Given the description of an element on the screen output the (x, y) to click on. 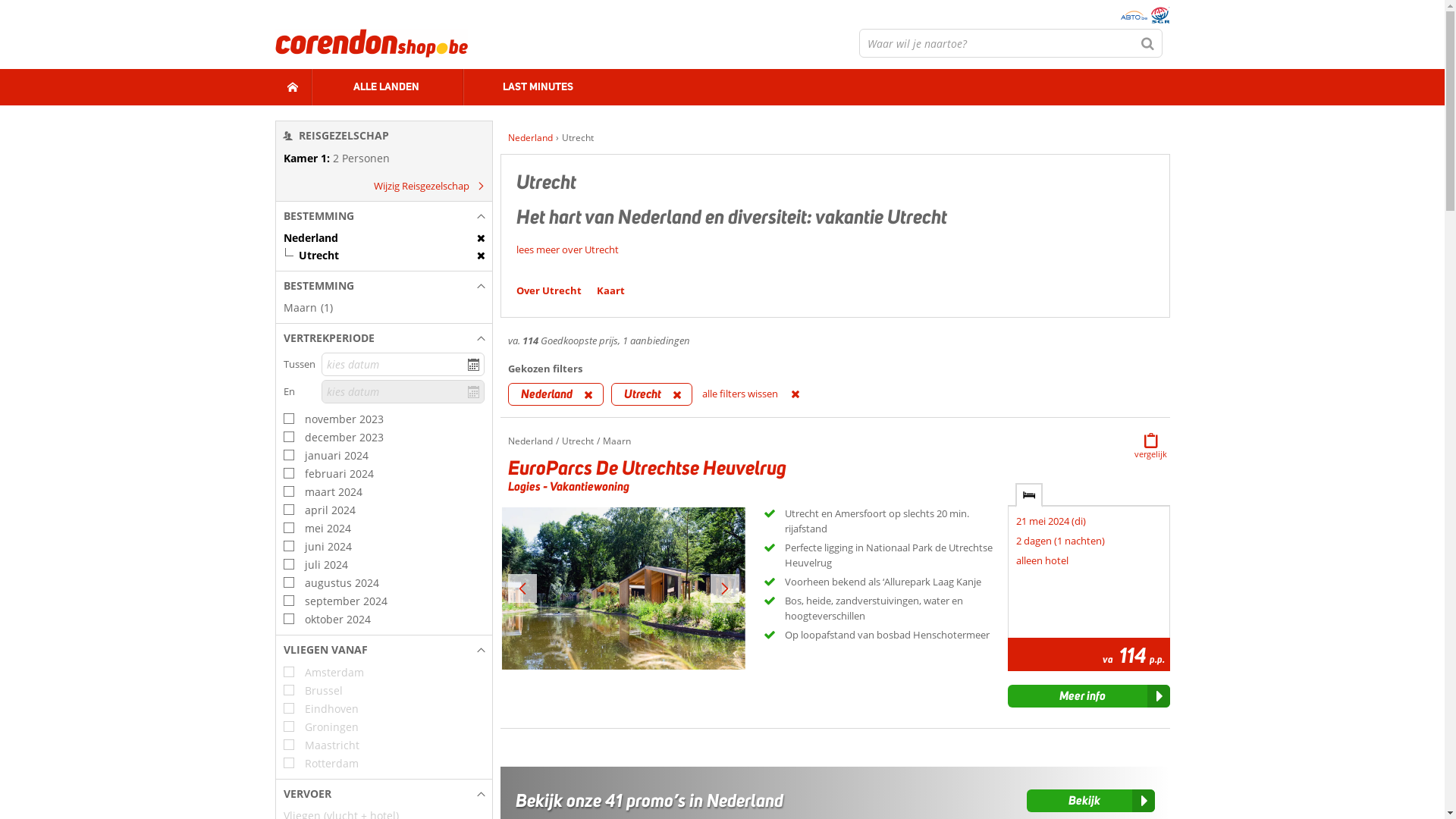
Alleen hotel Element type: hover (1028, 495)
ALLE LANDEN Element type: text (386, 87)
Home Element type: text (520, 137)
Nederland Element type: text (384, 237)
Meer info Element type: text (1088, 695)
Vliegvakanties Element type: hover (370, 42)
lees meer over Utrecht Element type: text (567, 249)
Home Element type: hover (292, 87)
Nederland Element type: text (530, 137)
Kaart Element type: text (610, 290)
Wijzig Reisgezelschap Element type: text (425, 185)
LAST MINUTES Element type: text (538, 87)
Nederland Element type: text (555, 393)
Utrecht Element type: text (384, 255)
Bekijk Element type: text (1090, 800)
Over Utrecht Element type: text (548, 290)
alle filters wissen Element type: text (762, 393)
EuroParcs De Utrechtse Heuvelrug Element type: text (647, 467)
Maarn
(1) Element type: text (384, 307)
Utrecht Element type: text (651, 393)
